Given the description of an element on the screen output the (x, y) to click on. 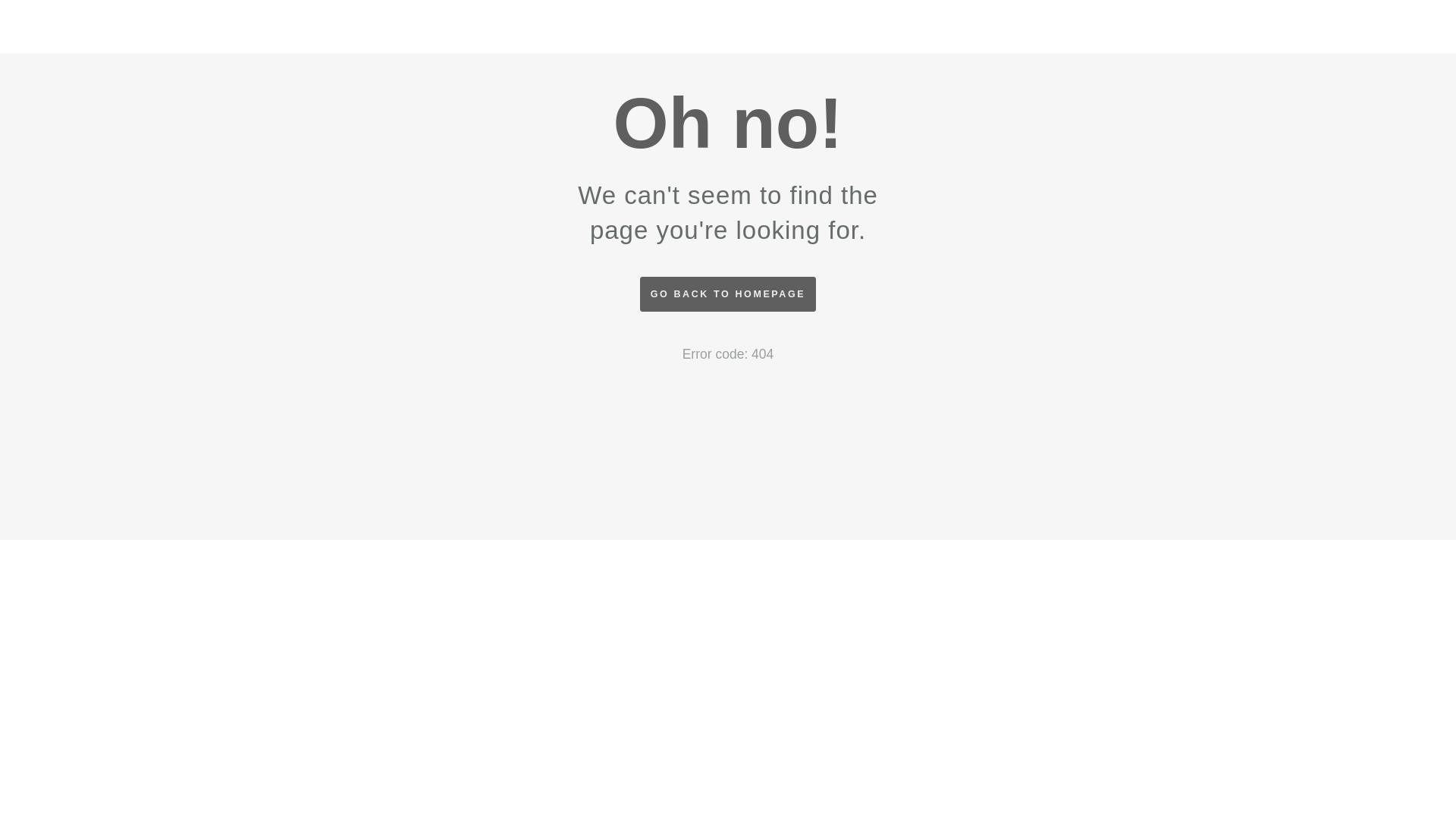
GO BACK TO HOMEPAGE (727, 294)
